Given the description of an element on the screen output the (x, y) to click on. 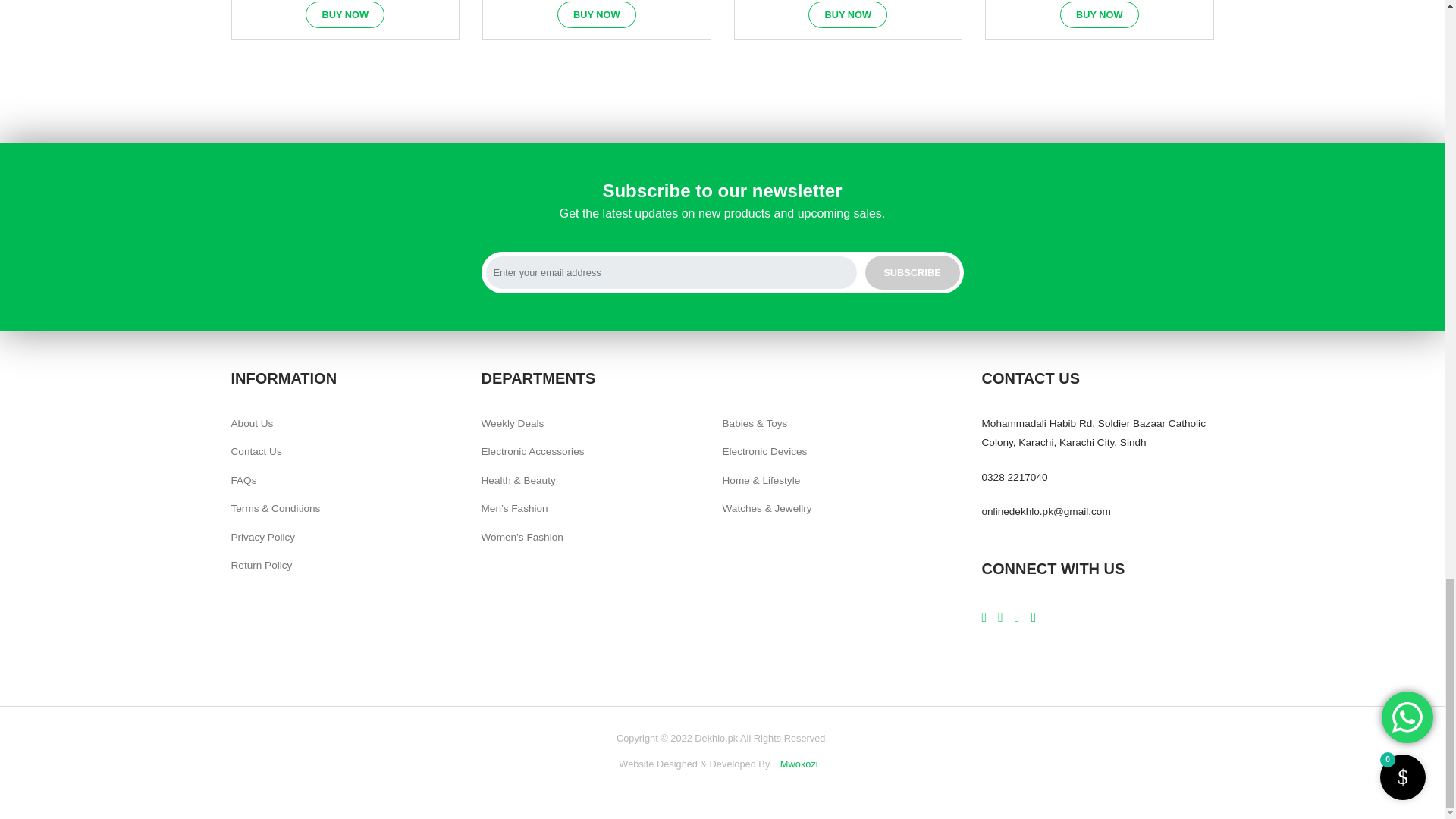
Subscribe (911, 272)
